Given the description of an element on the screen output the (x, y) to click on. 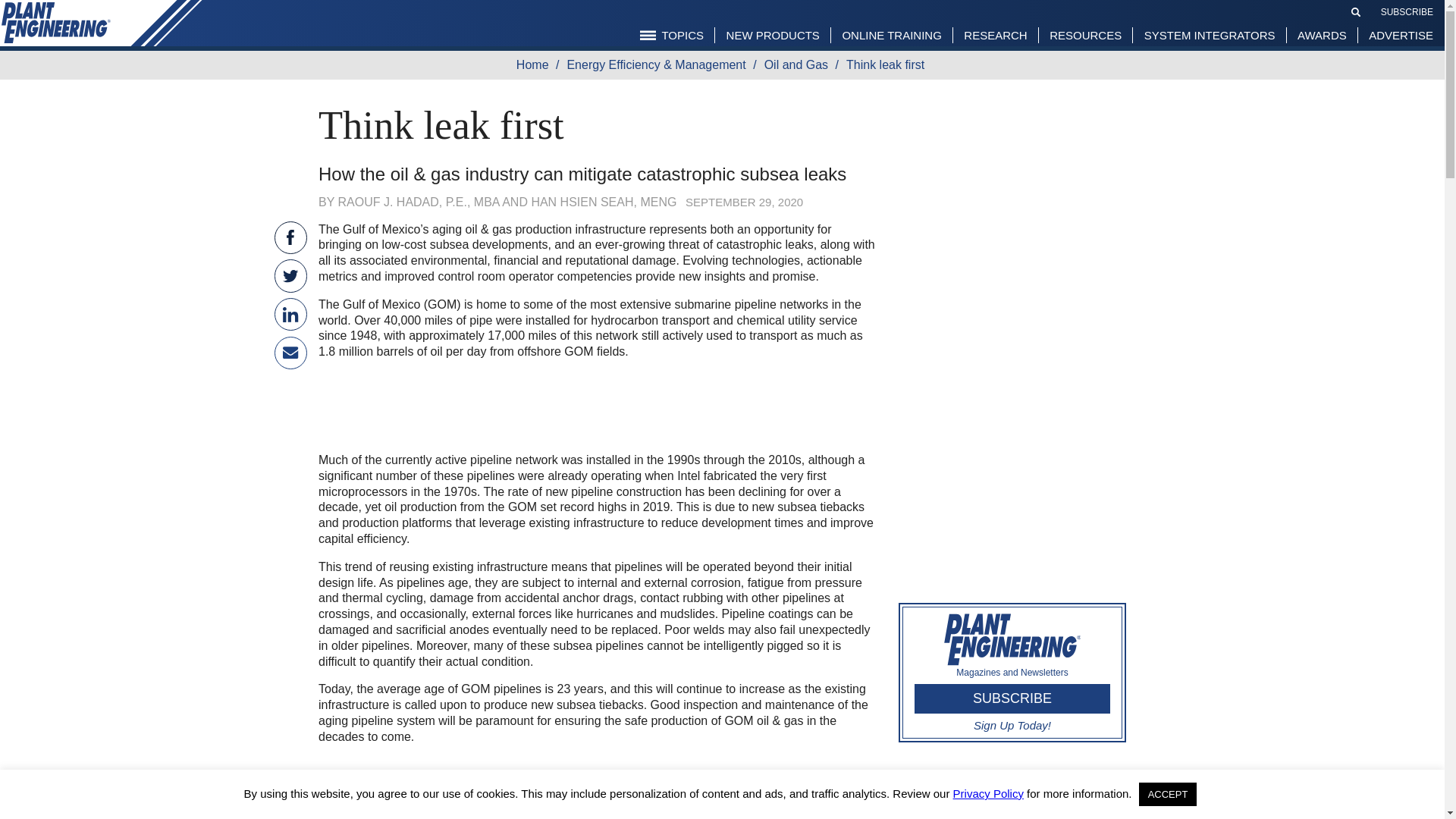
Search (1356, 11)
SYSTEM INTEGRATORS (1209, 34)
TOPICS (671, 34)
Home (536, 64)
RESOURCES (1085, 34)
ONLINE TRAINING (890, 34)
AWARDS (1321, 34)
SUBSCRIBE (1406, 11)
NEW PRODUCTS (772, 34)
RESEARCH (995, 34)
